Given the description of an element on the screen output the (x, y) to click on. 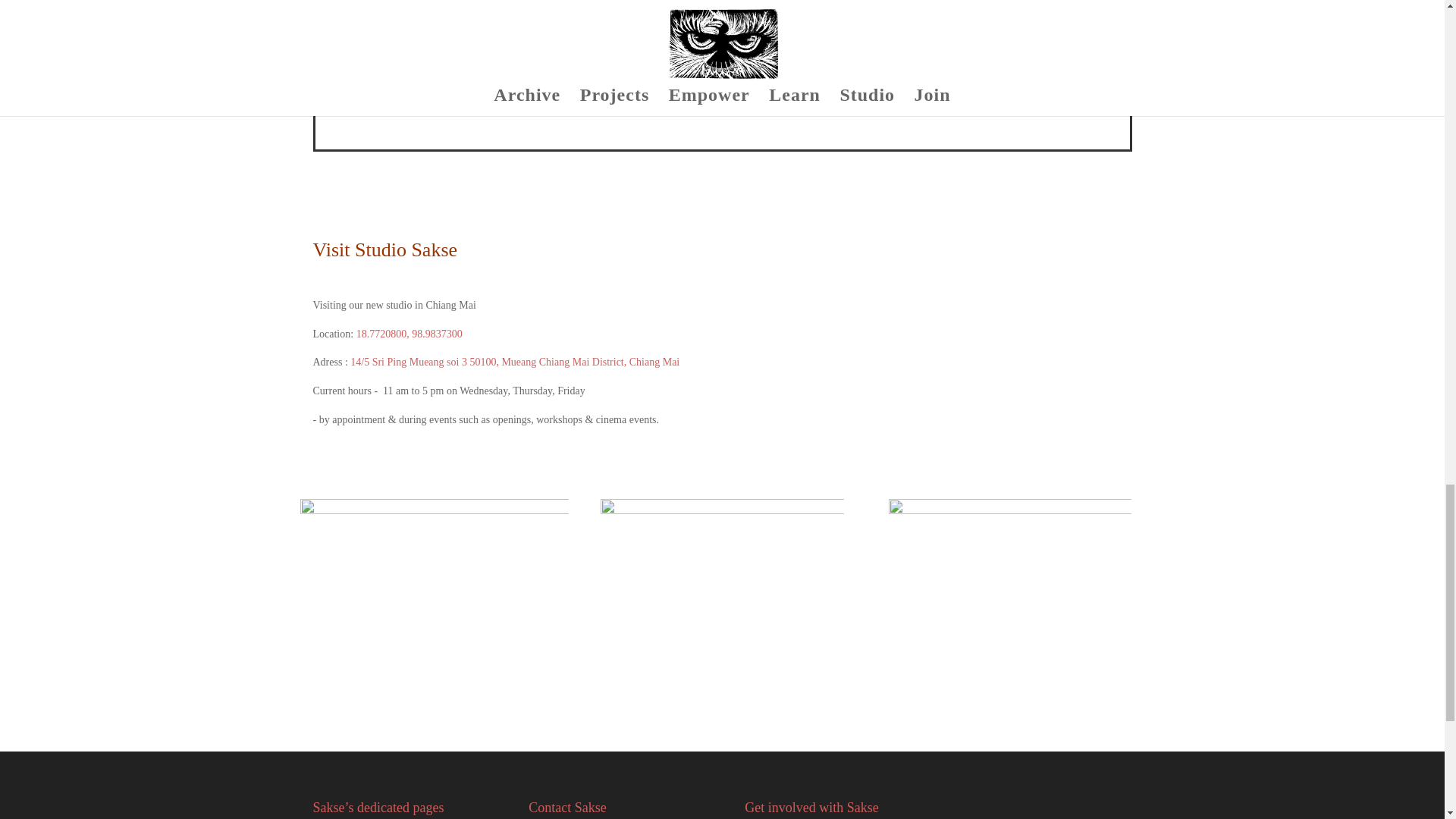
web-logo-LG (1009, 577)
Print (722, 74)
Sakse book showcase (721, 579)
18.7720800, 98.9837300 (409, 333)
